Given the description of an element on the screen output the (x, y) to click on. 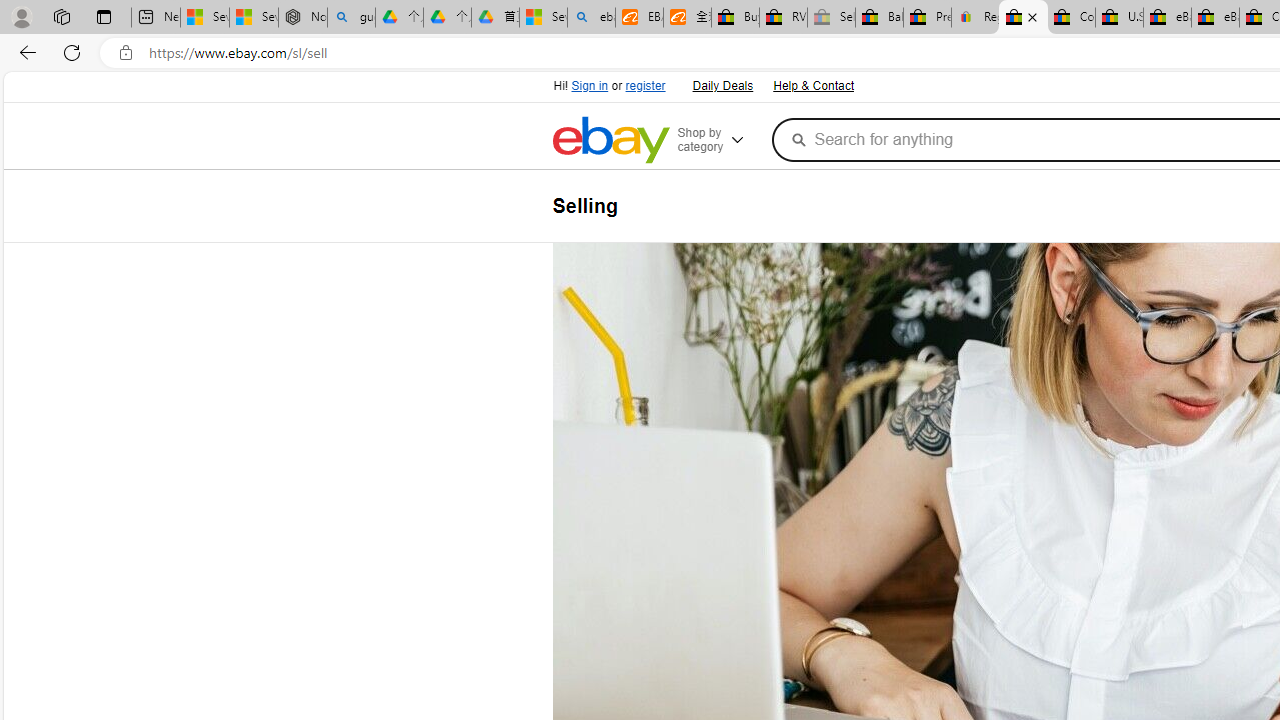
Consumer Health Data Privacy Policy - eBay Inc. (1071, 17)
guge yunpan - Search (351, 17)
Daily Deals (722, 86)
